Given the description of an element on the screen output the (x, y) to click on. 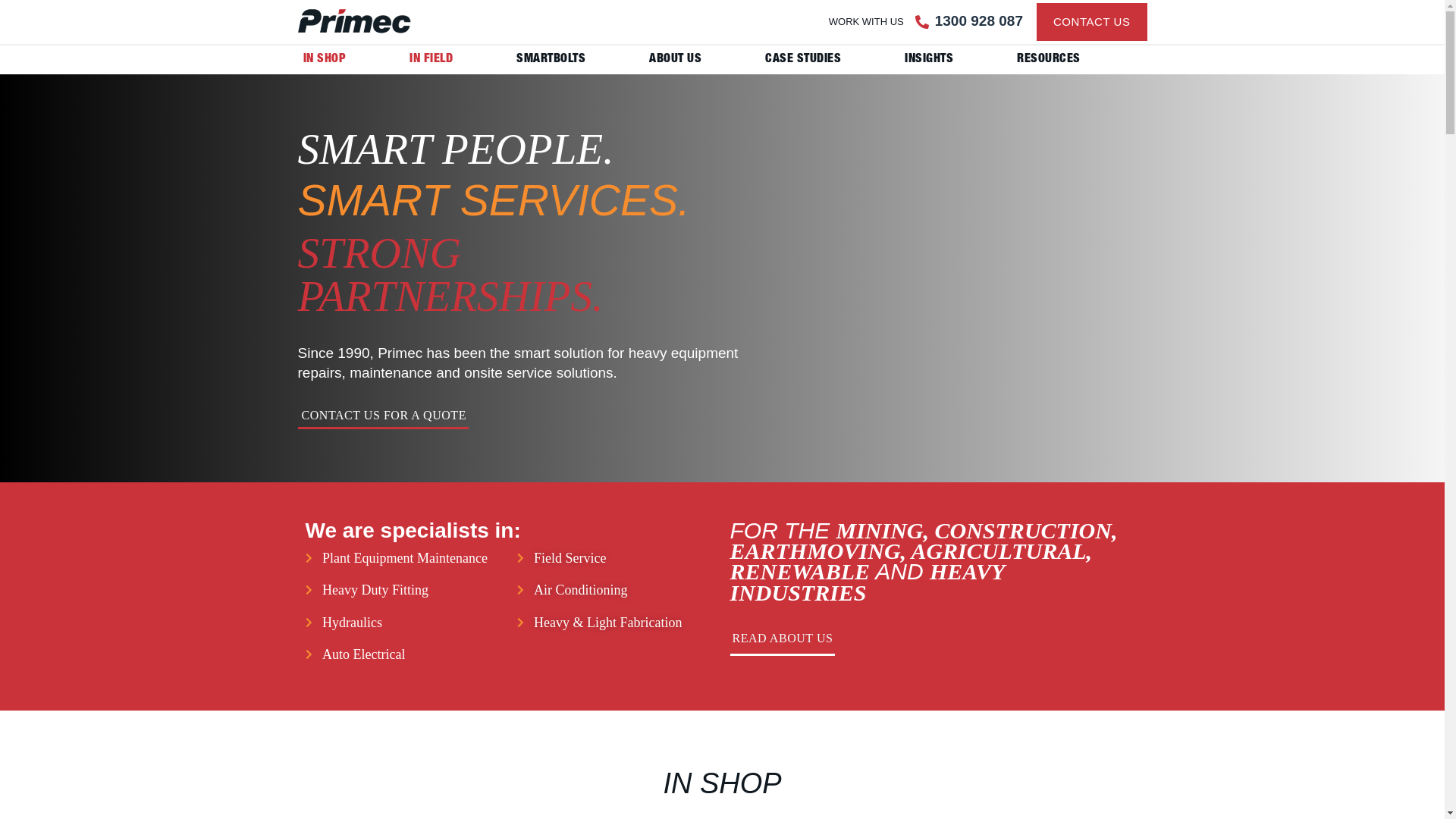
ABOUT US Element type: text (675, 59)
WORK WITH US Element type: text (865, 21)
IN SHOP Element type: text (323, 59)
CONTACT US FOR A QUOTE Element type: text (382, 419)
1300 928 087 Element type: text (978, 20)
RESOURCES Element type: text (1048, 59)
CASE STUDIES Element type: text (802, 59)
IN FIELD Element type: text (430, 59)
INSIGHTS Element type: text (928, 59)
CONTACT US Element type: text (1091, 21)
SMARTBOLTS Element type: text (550, 59)
READ ABOUT US Element type: text (781, 636)
